Given the description of an element on the screen output the (x, y) to click on. 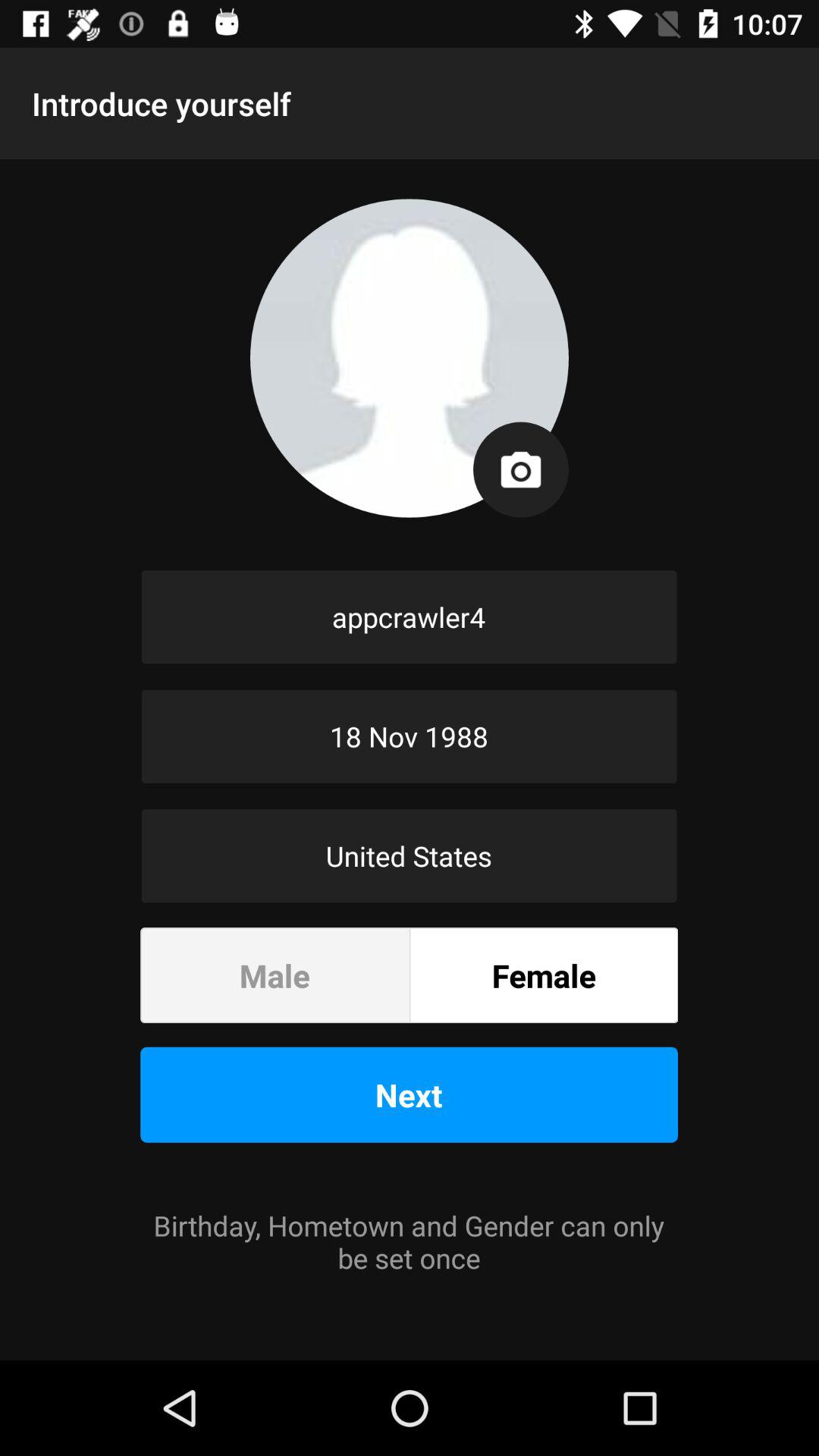
turn on the united states item (408, 855)
